Given the description of an element on the screen output the (x, y) to click on. 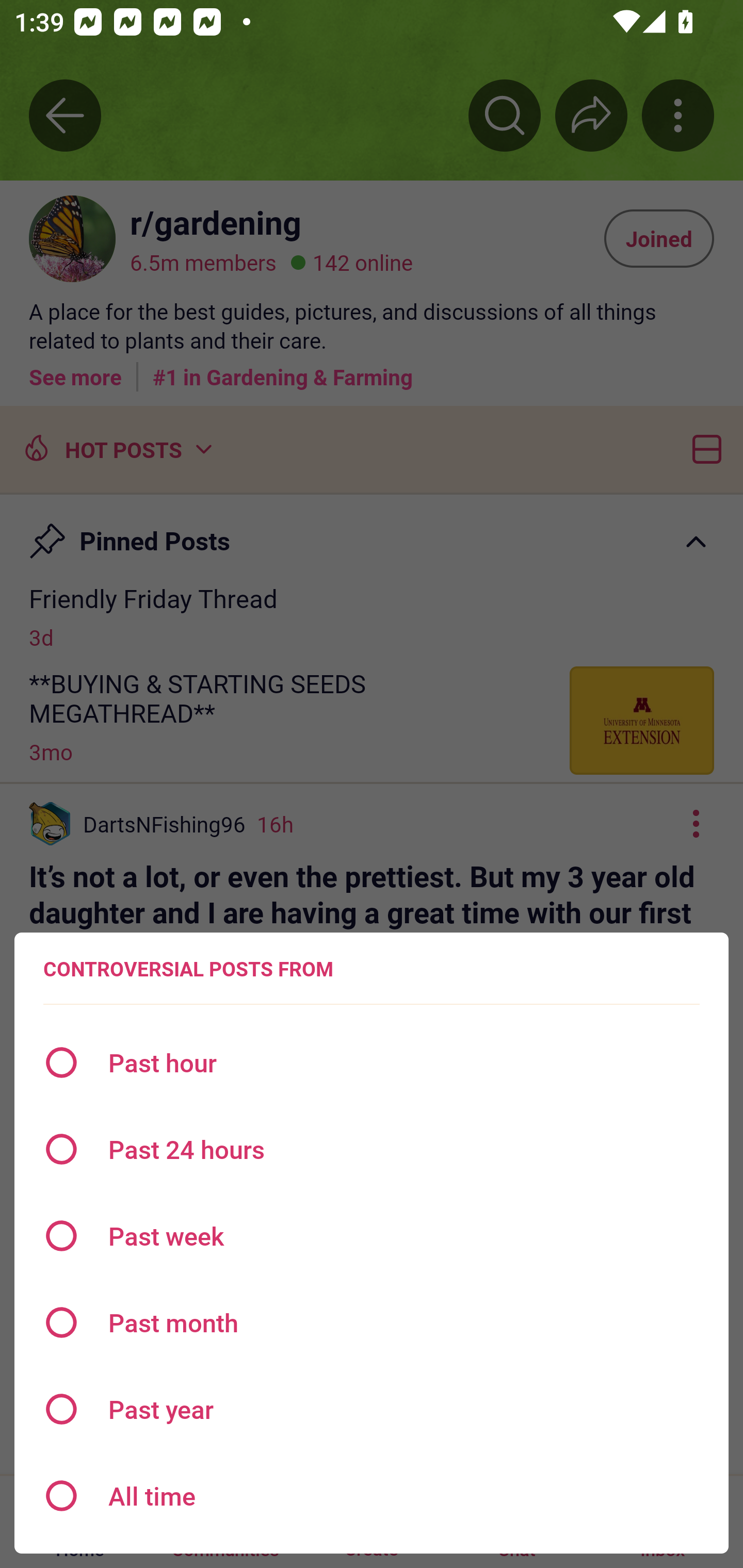
CONTROVERSIAL POSTS FROM (188, 968)
Past hour (371, 1062)
Past 24 hours (371, 1149)
Past week (371, 1236)
Past month (371, 1322)
Past year (371, 1408)
All time (371, 1495)
